Given the description of an element on the screen output the (x, y) to click on. 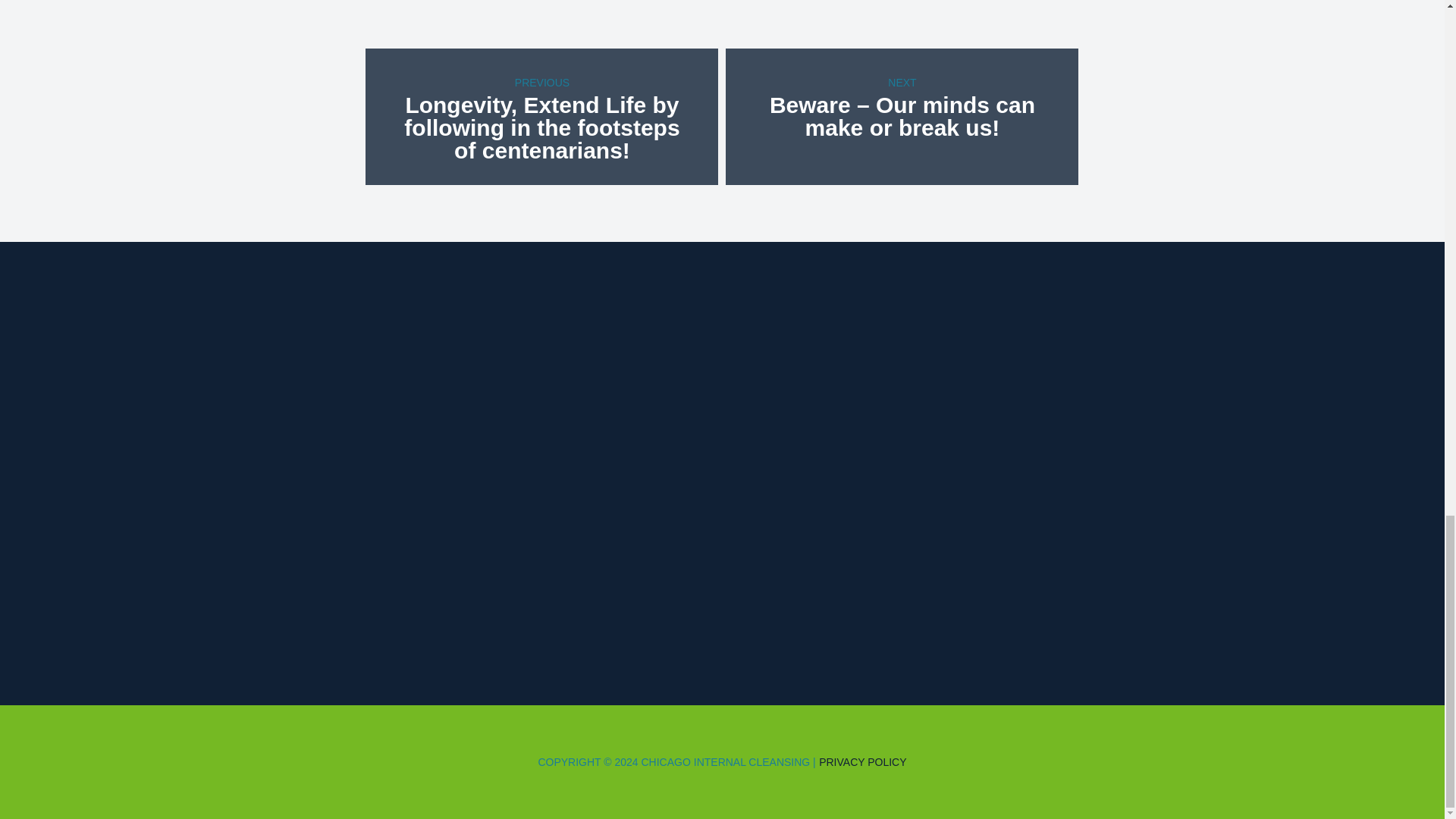
PRIVACY POLICY (861, 761)
PREVIOUS (542, 82)
NEXT (901, 82)
